Given the description of an element on the screen output the (x, y) to click on. 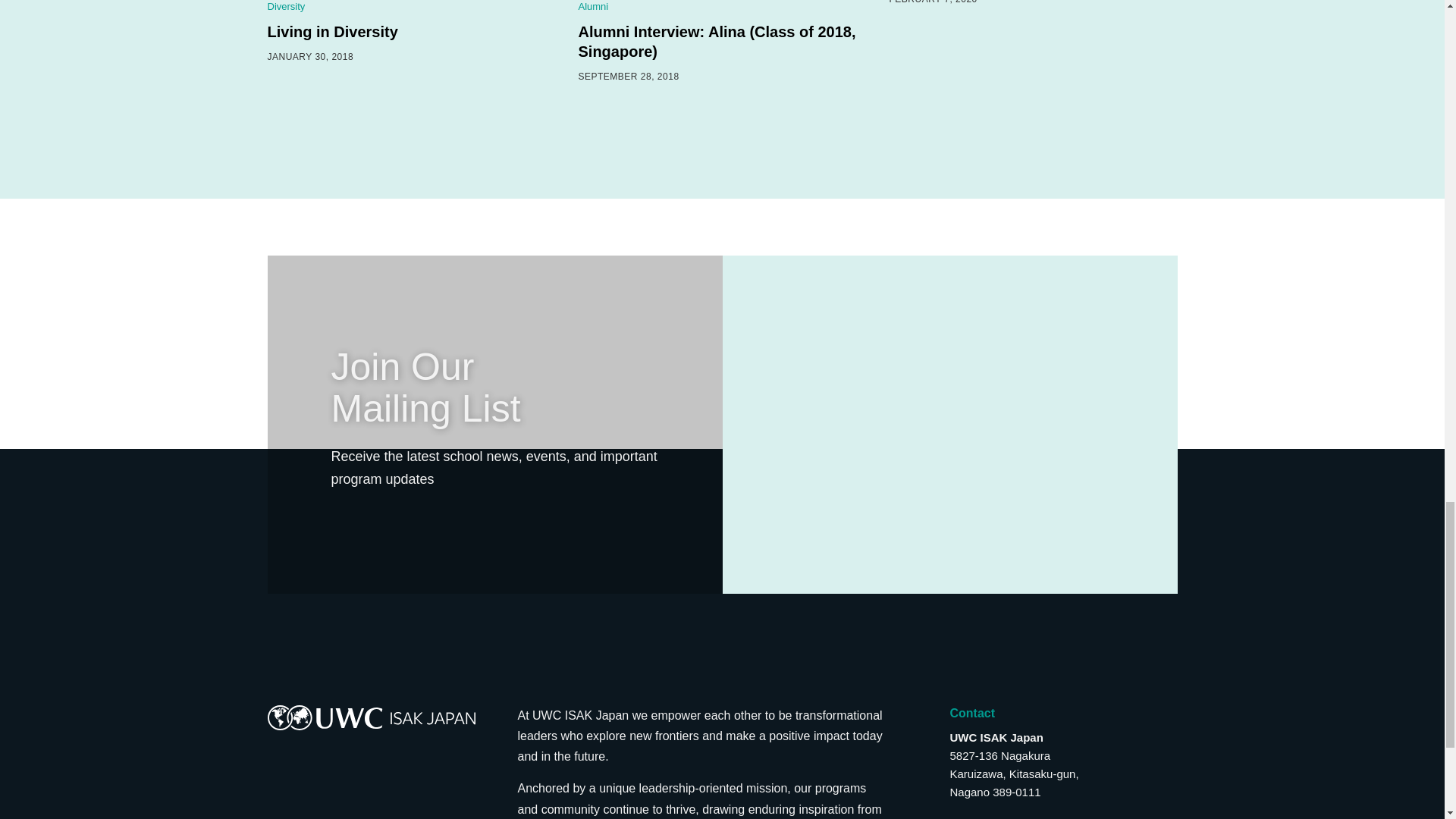
Diversity (285, 6)
Contact (971, 712)
Living in Diversity (331, 31)
Alumni (593, 6)
